Given the description of an element on the screen output the (x, y) to click on. 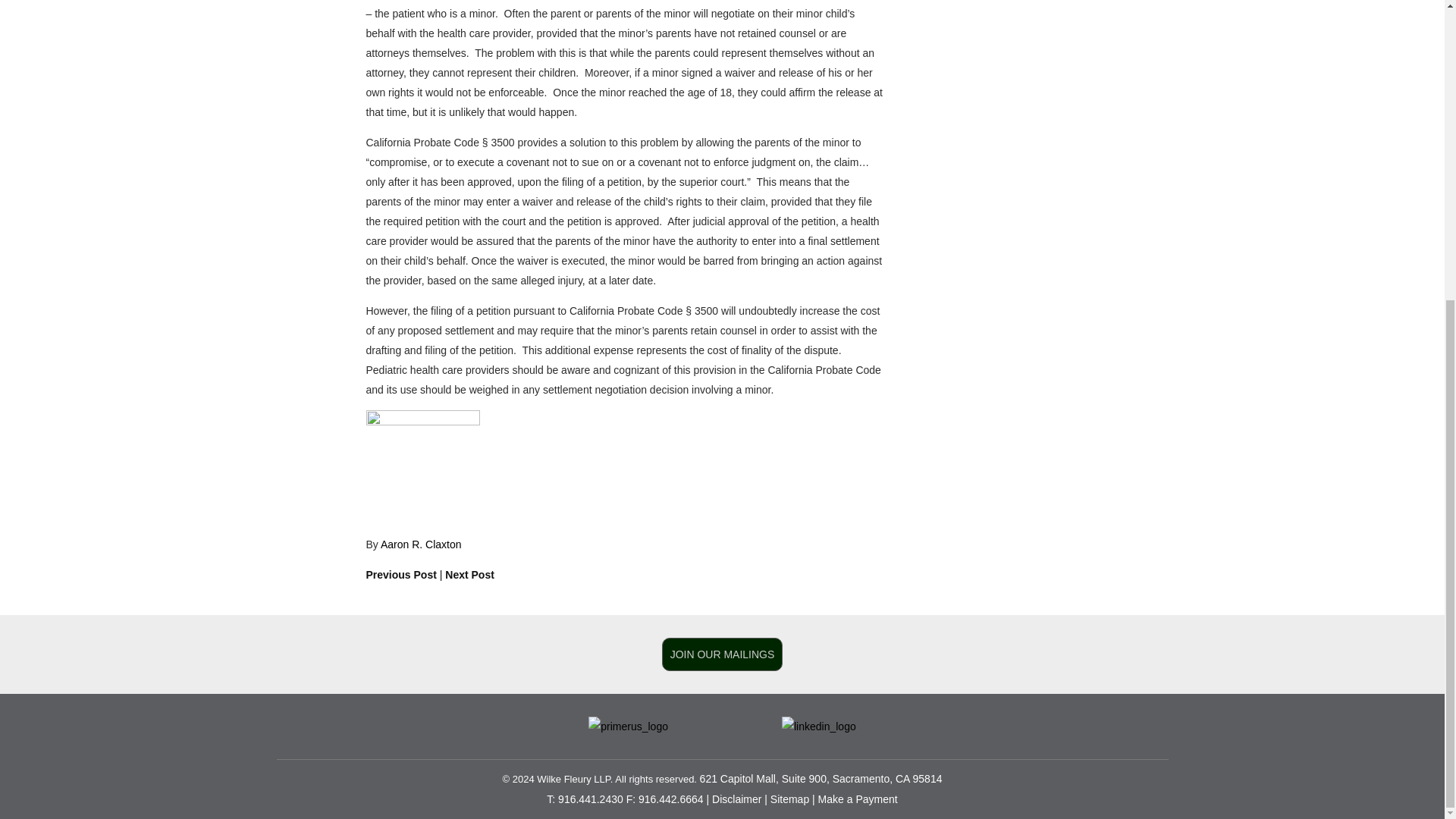
Disclaimer (736, 799)
JOIN OUR MAILINGS (722, 654)
Aaron R. Claxton (420, 544)
Make a Payment (858, 799)
Sitemap (789, 799)
Next Post (470, 574)
